Given the description of an element on the screen output the (x, y) to click on. 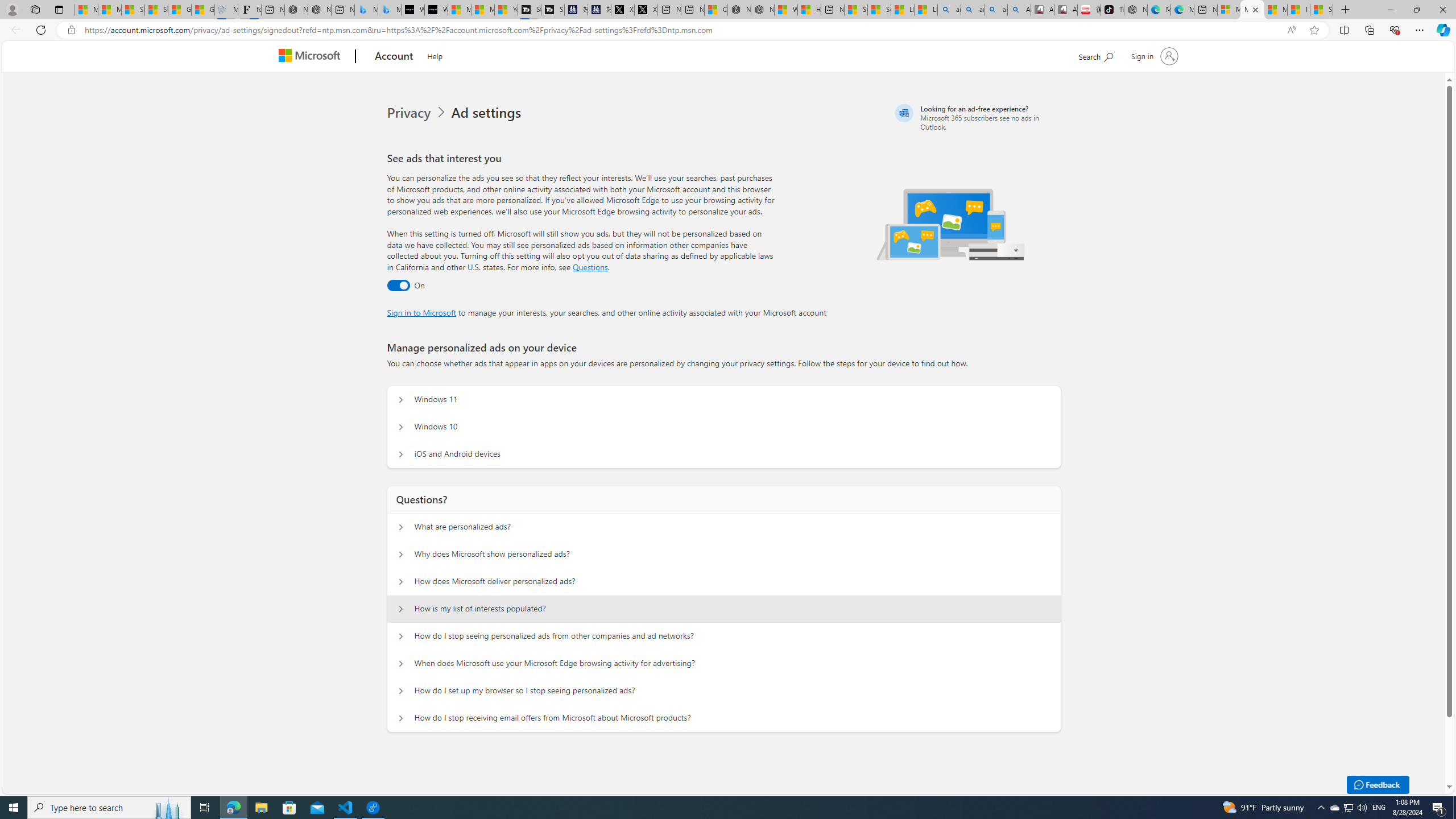
Help (435, 54)
Microsoft Bing Travel - Shangri-La Hotel Bangkok (389, 9)
Microsoft Bing Travel - Stays in Bangkok, Bangkok, Thailand (365, 9)
Nordace - Best Sellers (1135, 9)
Help (434, 54)
Nordace - #1 Japanese Best-Seller - Siena Smart Backpack (319, 9)
Questions? What are personalized ads? (401, 526)
TikTok (1112, 9)
Shanghai, China weather forecast | Microsoft Weather (156, 9)
Manage personalized ads on your device Windows 10 (401, 427)
